Given the description of an element on the screen output the (x, y) to click on. 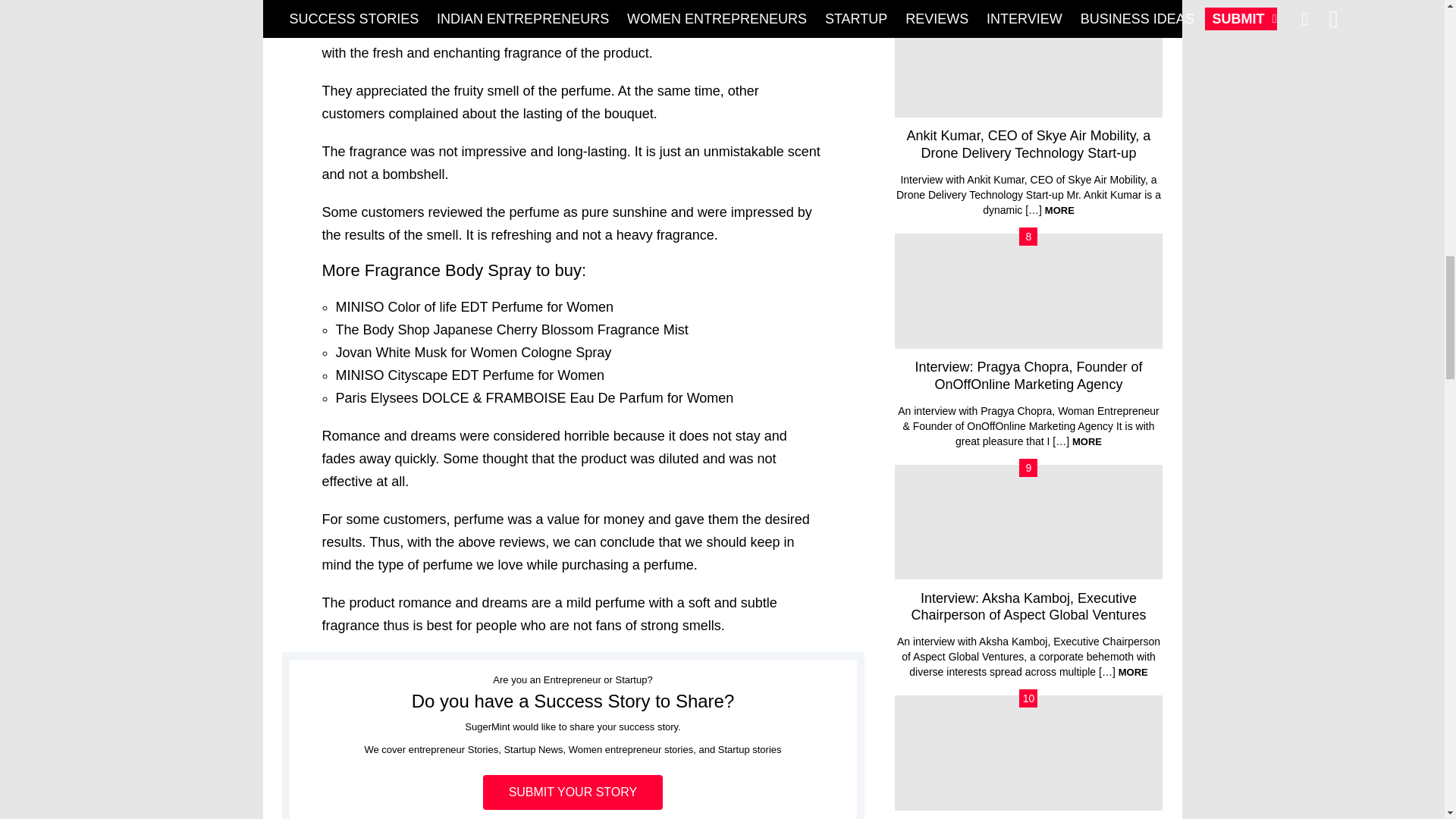
SUBMIT YOUR STORY (573, 791)
